Given the description of an element on the screen output the (x, y) to click on. 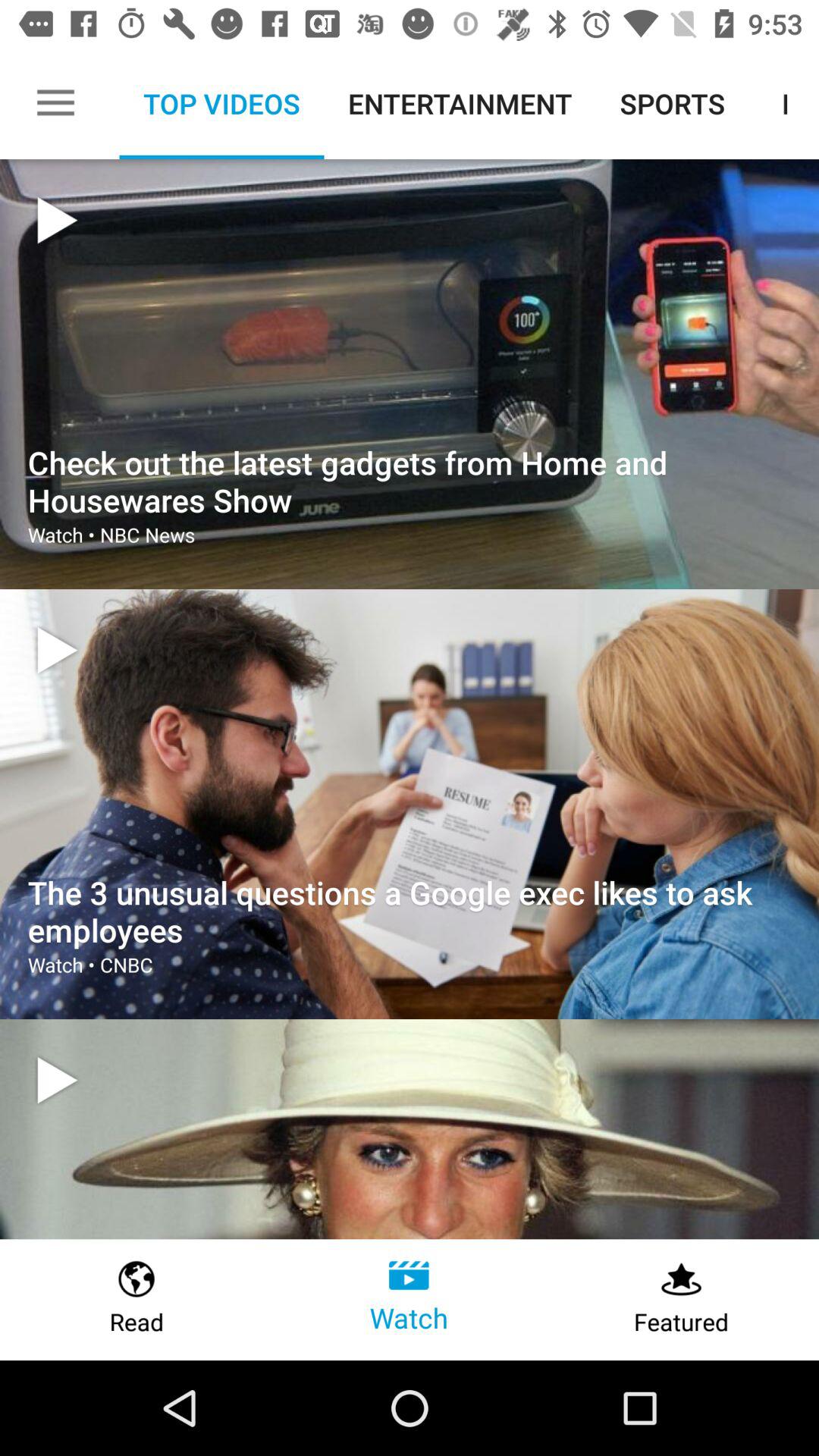
play video (56, 649)
